Given the description of an element on the screen output the (x, y) to click on. 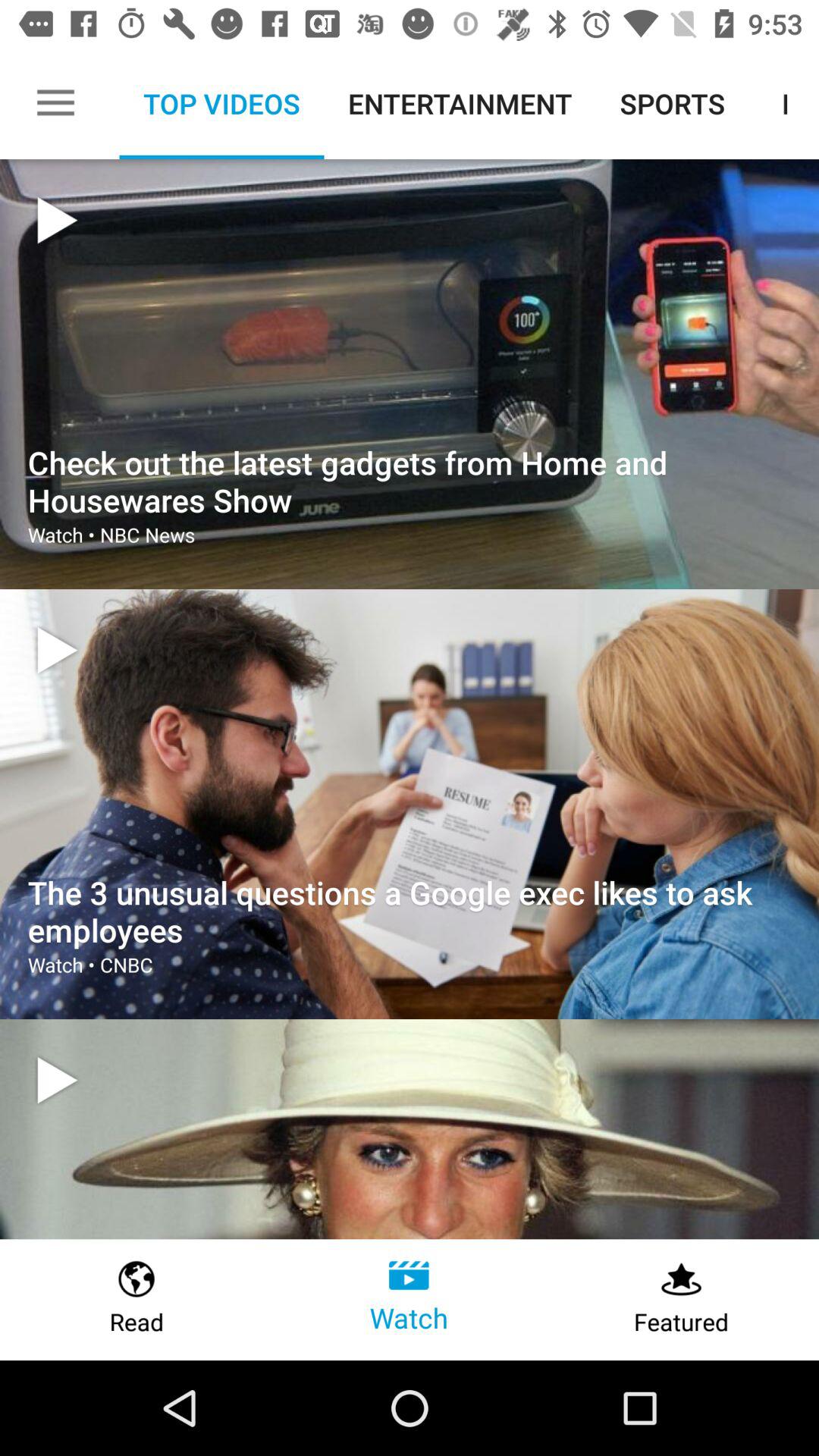
play video (56, 649)
